Given the description of an element on the screen output the (x, y) to click on. 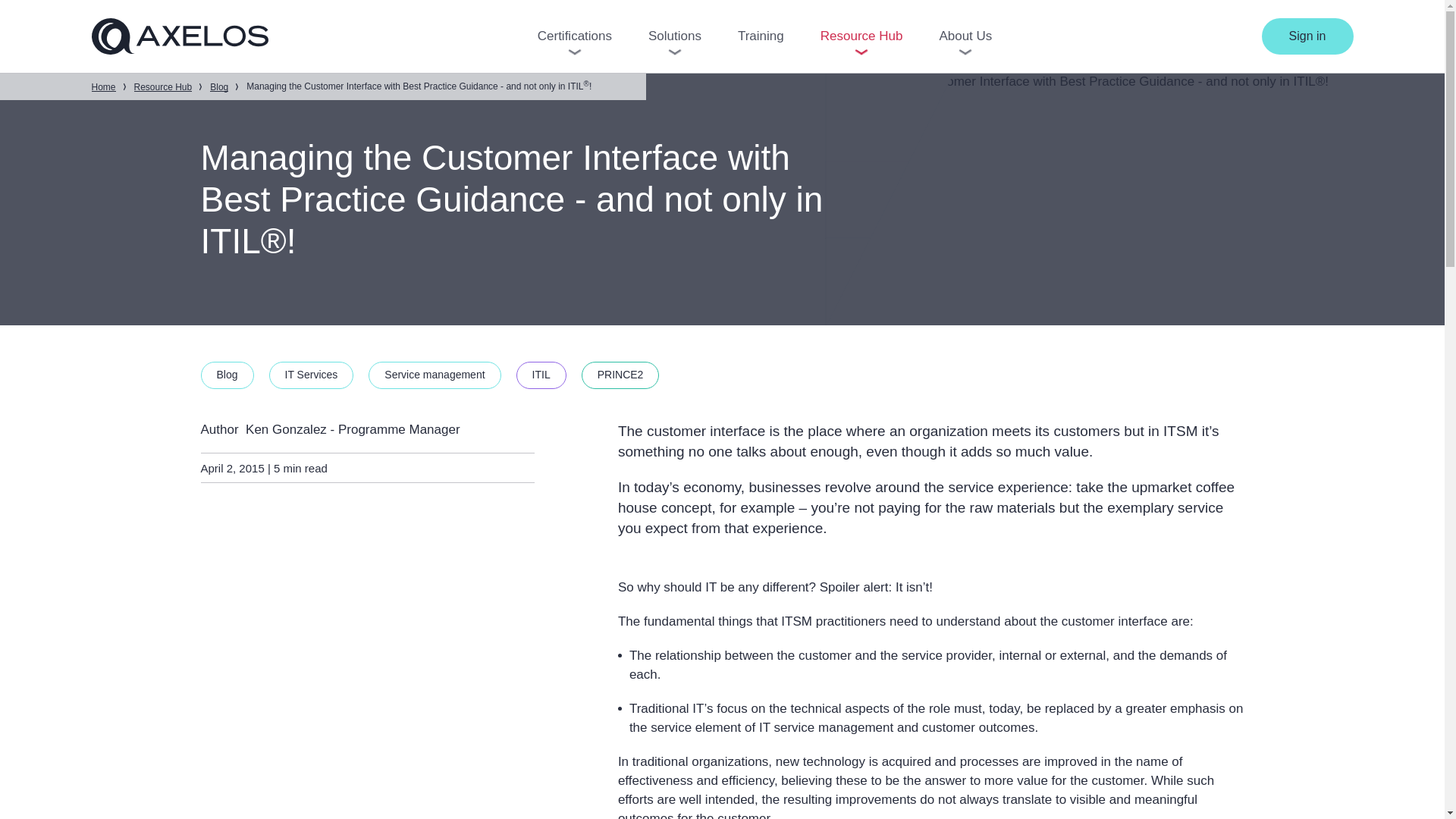
Blog (218, 86)
Sign in (1308, 36)
Resource Hub (162, 86)
Certifications (574, 36)
Home (102, 86)
Resource Hub (861, 36)
